Given the description of an element on the screen output the (x, y) to click on. 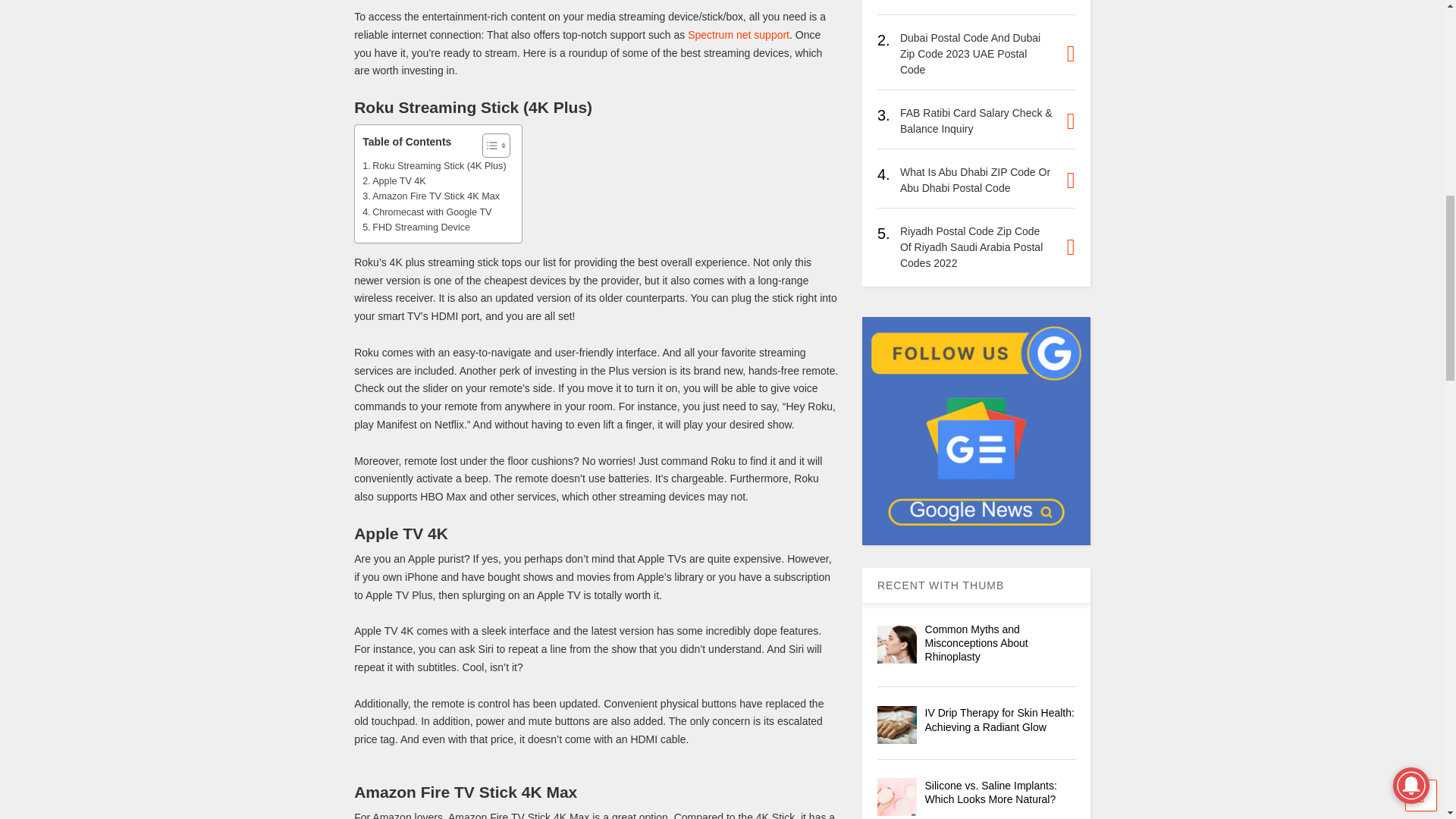
Apple TV 4K (394, 181)
Amazon Fire TV Stick 4K Max (430, 196)
